Given the description of an element on the screen output the (x, y) to click on. 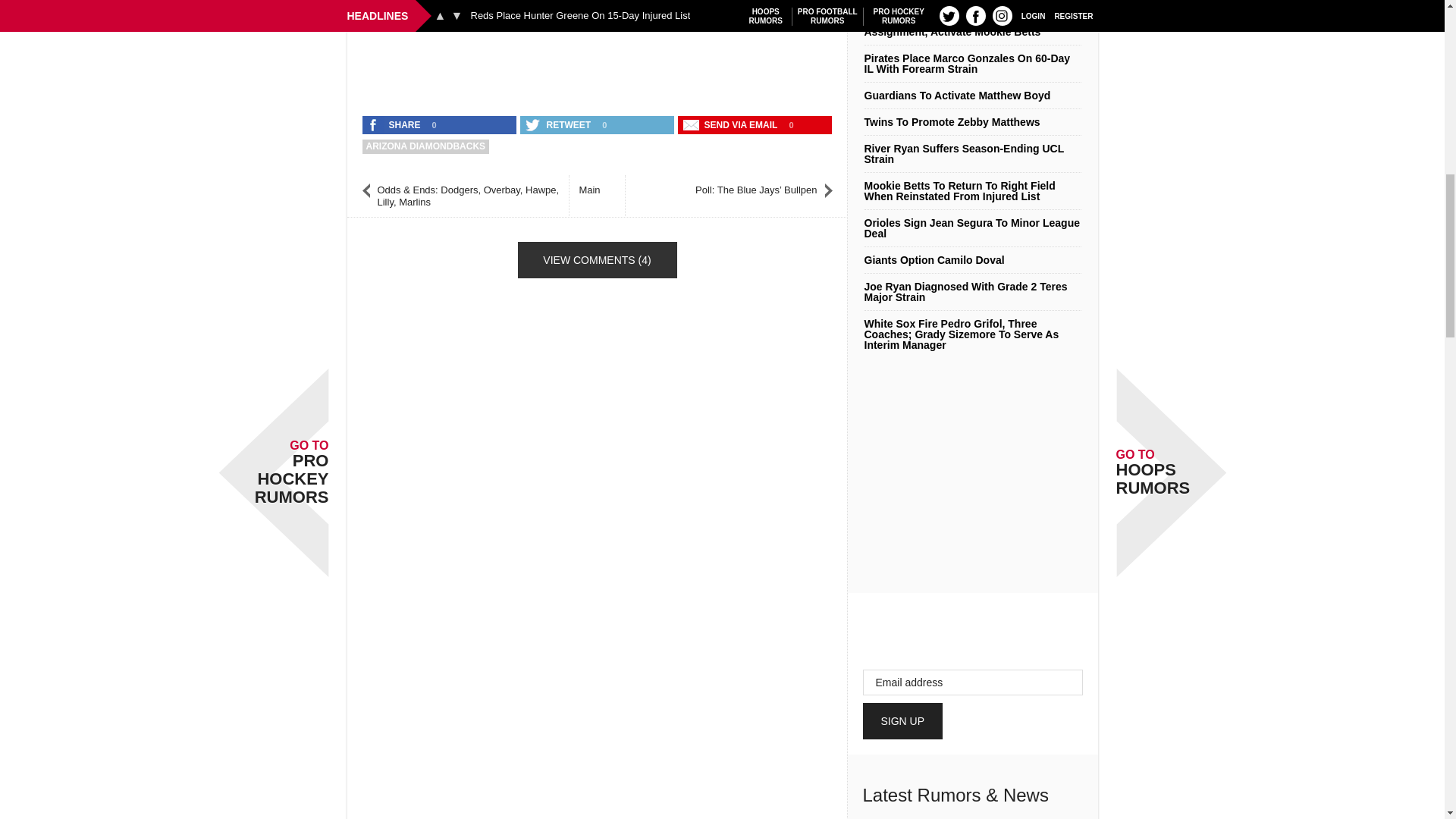
Send Diamondbacks Unlikely To Make Any Trades with an email (732, 125)
Sign Up (903, 720)
Share 'Diamondbacks Unlikely To Make Any Trades' on Facebook (395, 125)
